Given the description of an element on the screen output the (x, y) to click on. 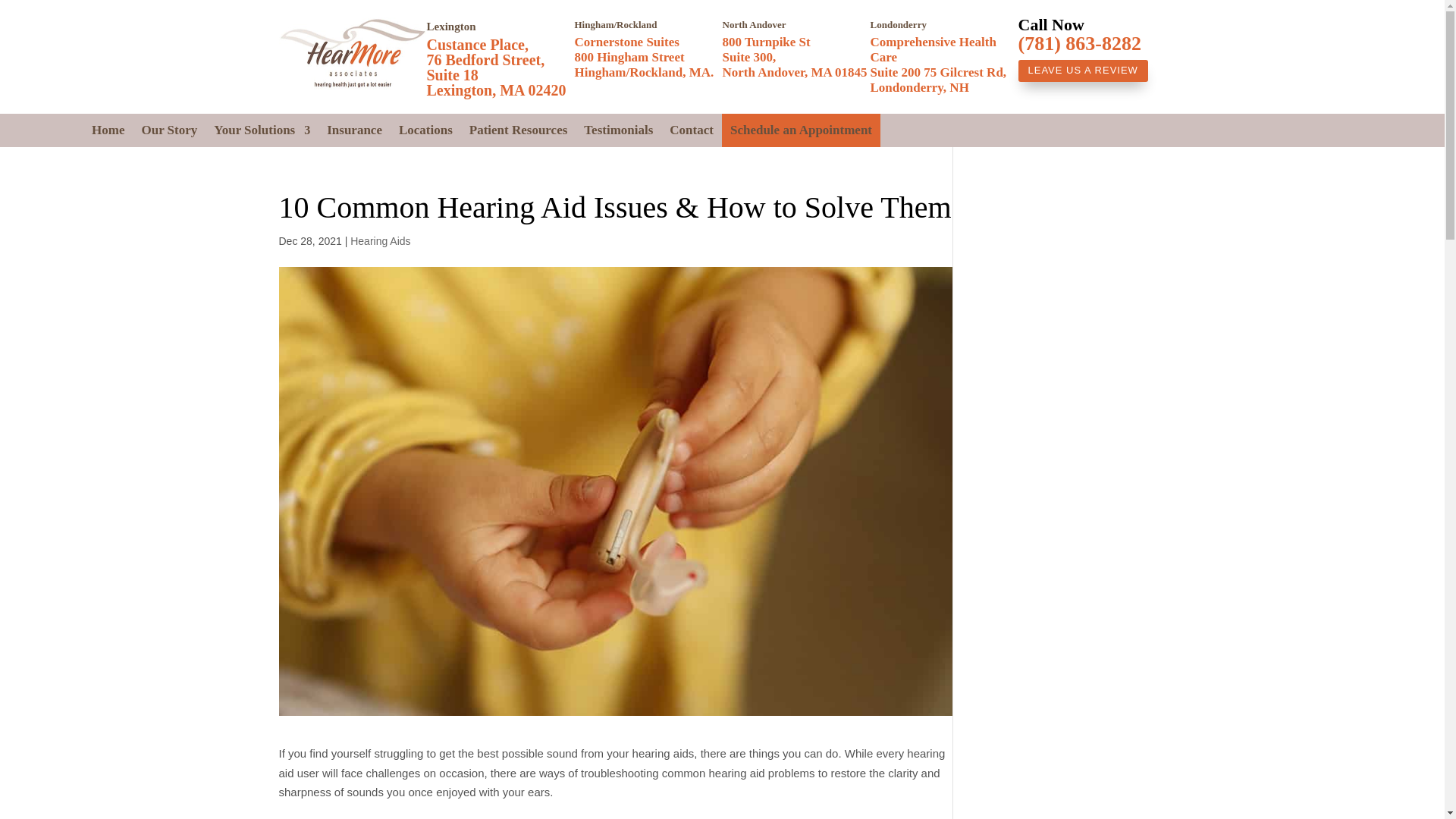
Insurance (353, 129)
Schedule an Appointment (801, 129)
Locations (425, 129)
Home (107, 129)
LEAVE US A REVIEW (1082, 69)
Patient Resources (517, 129)
Testimonials (617, 129)
Contact (691, 129)
Your Solutions (262, 129)
Our Story (168, 129)
